Given the description of an element on the screen output the (x, y) to click on. 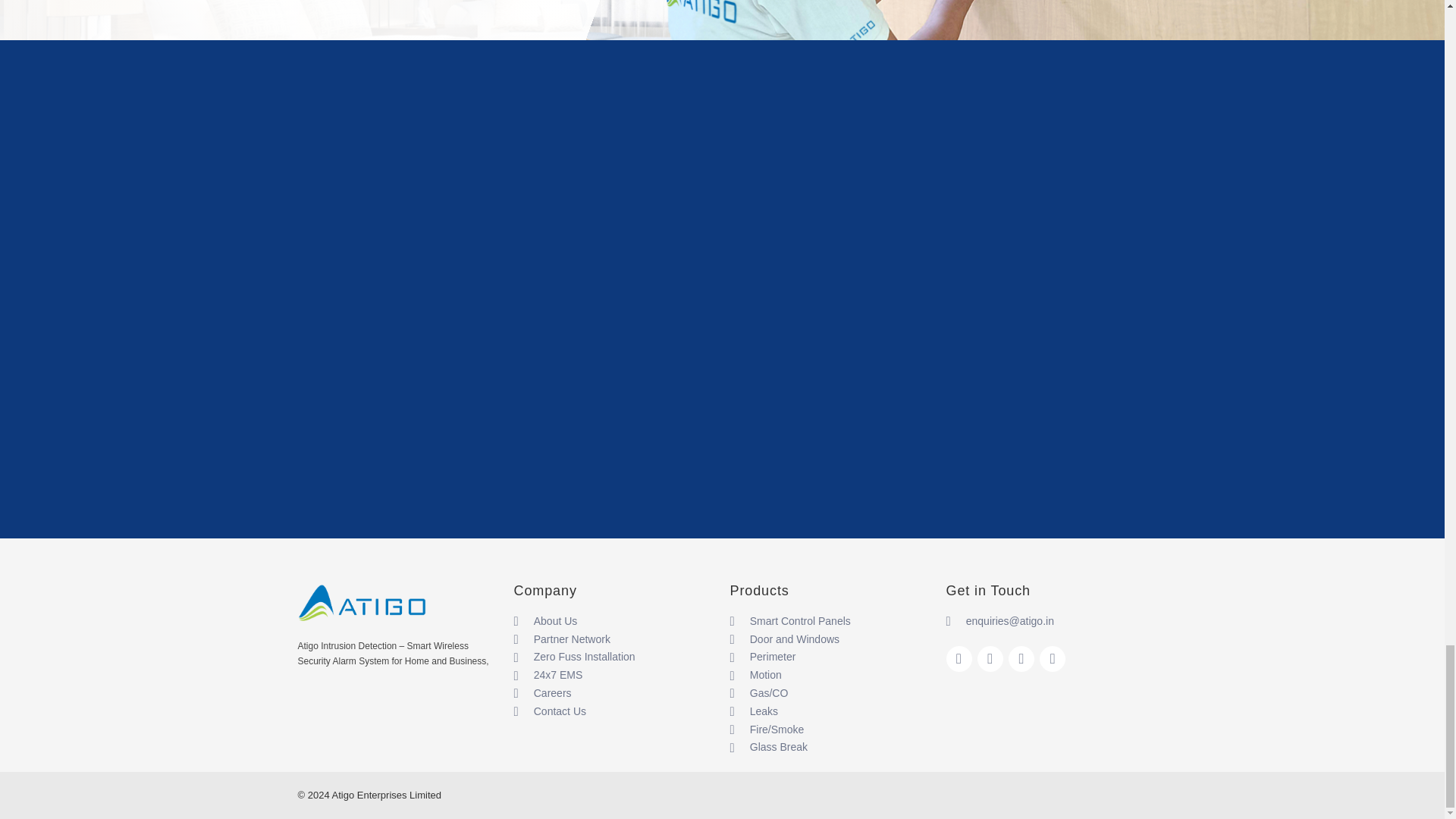
Atigo Security Alarm System (362, 603)
Smart Control Panels (829, 621)
About Us (613, 621)
Partner Network (613, 639)
Glass Break (829, 747)
Perimeter (829, 657)
24x7 EMS (613, 675)
Contact Us (613, 711)
Leaks (829, 711)
Motion (829, 675)
